Given the description of an element on the screen output the (x, y) to click on. 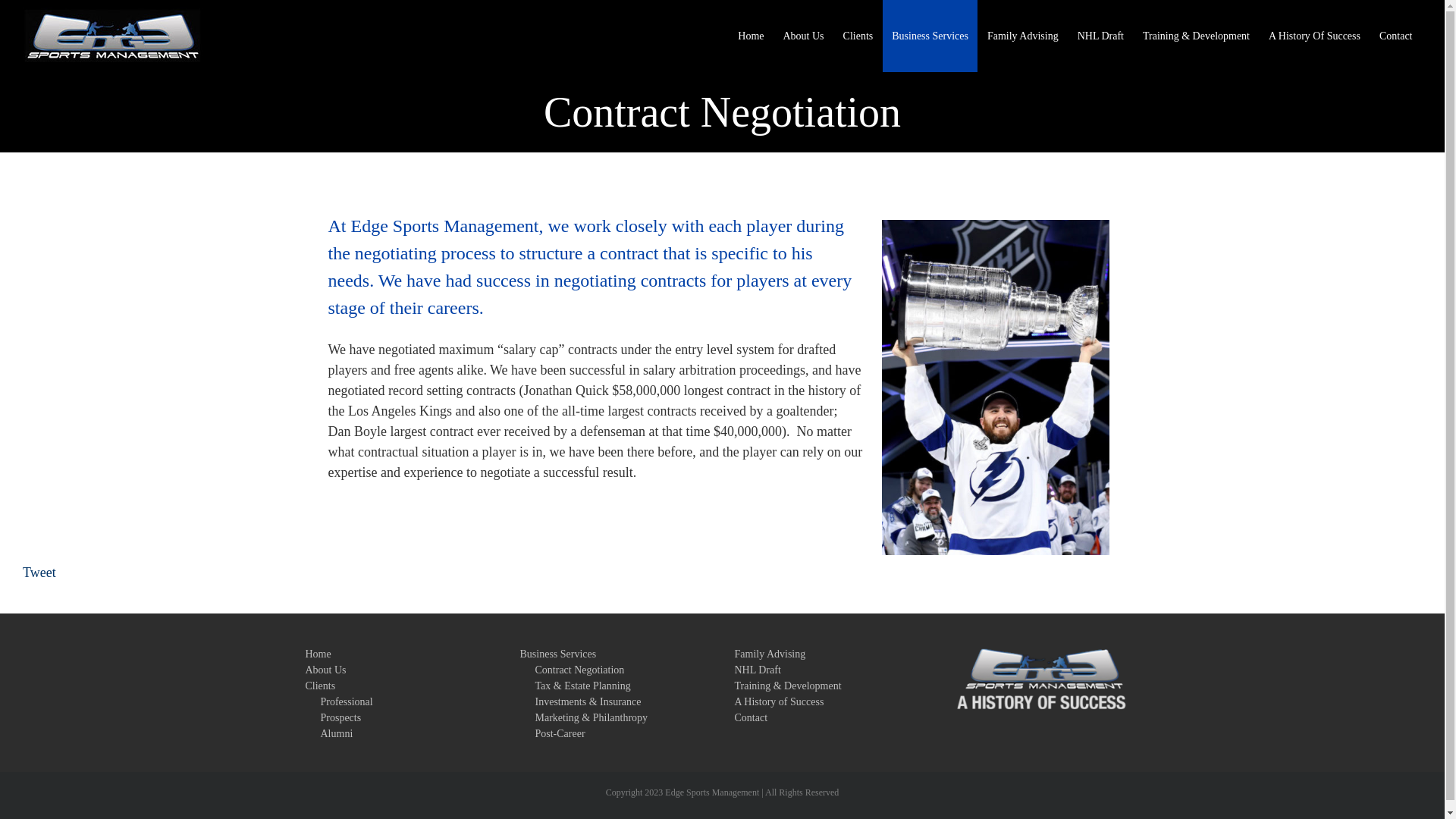
NHL Draft (1099, 36)
Family Advising (1021, 36)
Business Services (930, 36)
A History Of Success (1314, 36)
